Given the description of an element on the screen output the (x, y) to click on. 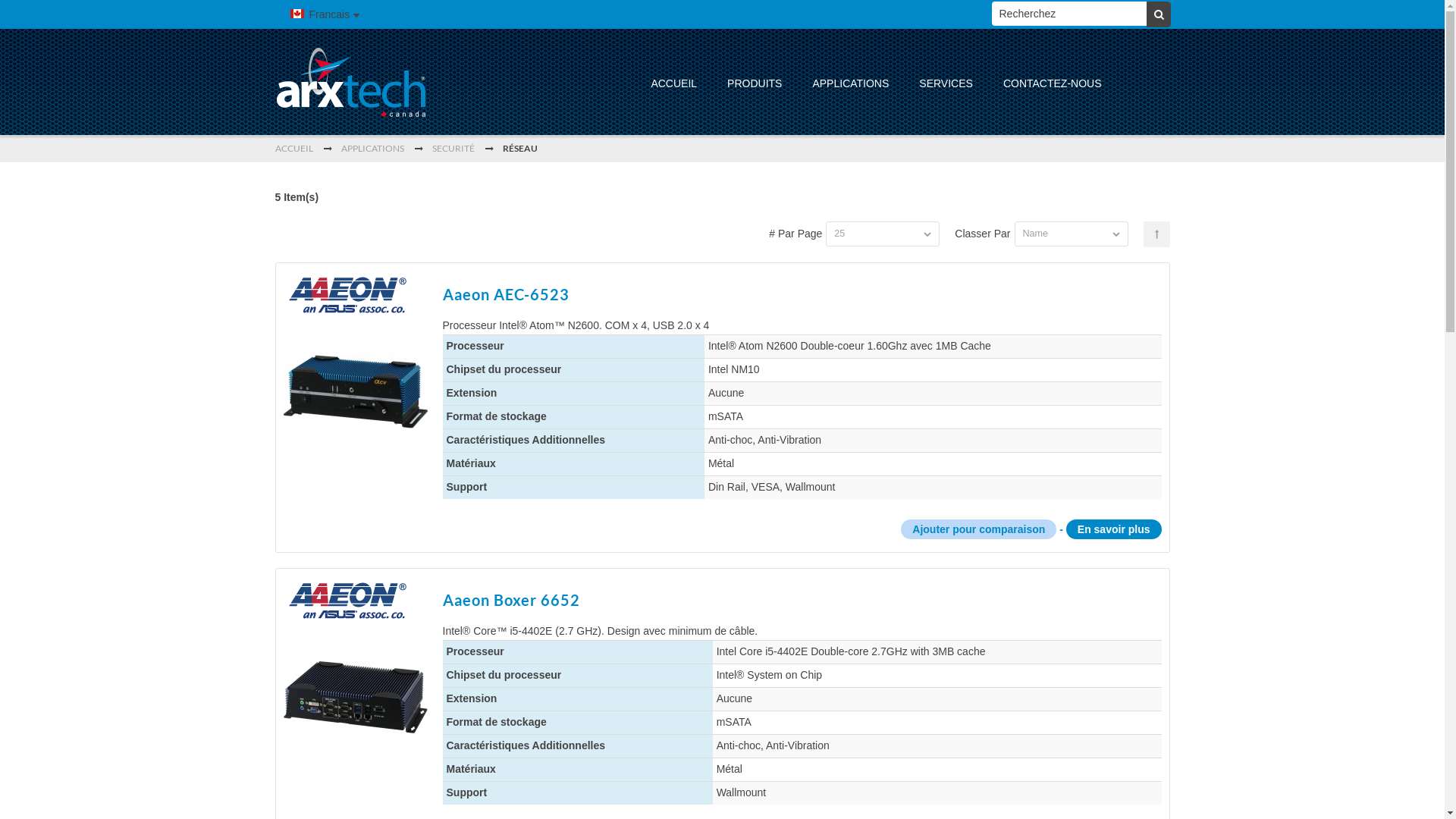
ACCUEIL Element type: text (673, 88)
AEC-6523 Element type: hover (355, 366)
SERVICES Element type: text (945, 88)
APPLICATIONS Element type: text (372, 147)
CONTACTEZ-NOUS Element type: text (1052, 88)
Arxtech Canada Element type: hover (350, 81)
SEARCH Element type: text (1158, 14)
APPLICATIONS Element type: text (850, 88)
Ajouter pour comparaison Element type: text (978, 529)
En savoir plus Element type: text (1113, 529)
Aaeon Boxer 6652 Element type: text (511, 599)
ACCUEIL Element type: text (293, 147)
PRODUITS Element type: text (754, 88)
Set Descending Direction Element type: hover (1156, 234)
Aaeon AEC-6523 Element type: text (505, 294)
Boxer 6652 Element type: hover (355, 672)
